Given the description of an element on the screen output the (x, y) to click on. 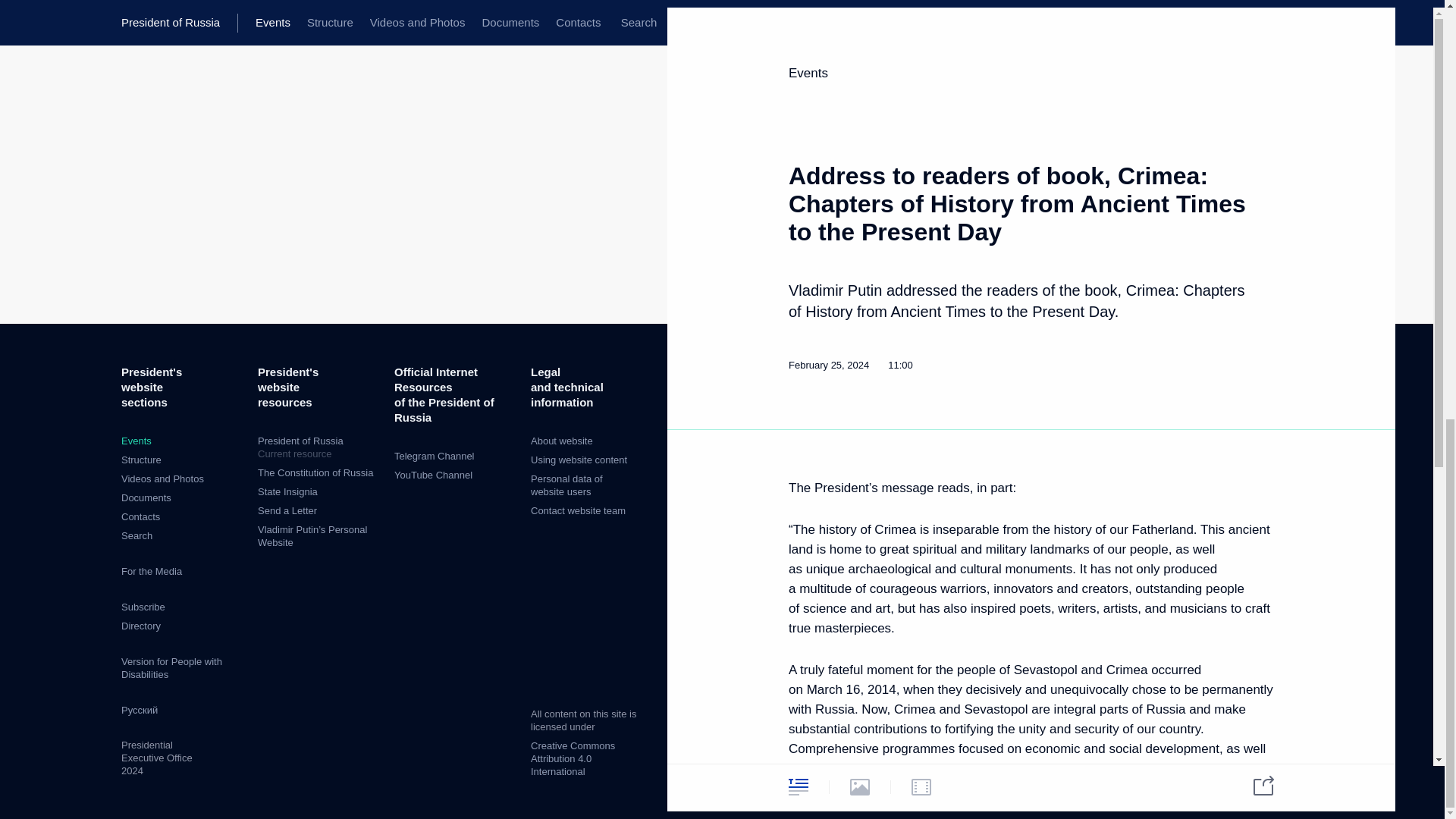
Search (136, 535)
The Constitution of Russia (314, 472)
Directory (140, 625)
State Insignia (287, 491)
About website (561, 440)
Telegram Channel (434, 455)
YouTube Channel (317, 447)
Events (432, 474)
Send a Letter (135, 440)
Structure (287, 510)
Contacts (140, 460)
For the Media (140, 516)
Using website content (151, 571)
Subscribe (579, 460)
